Given the description of an element on the screen output the (x, y) to click on. 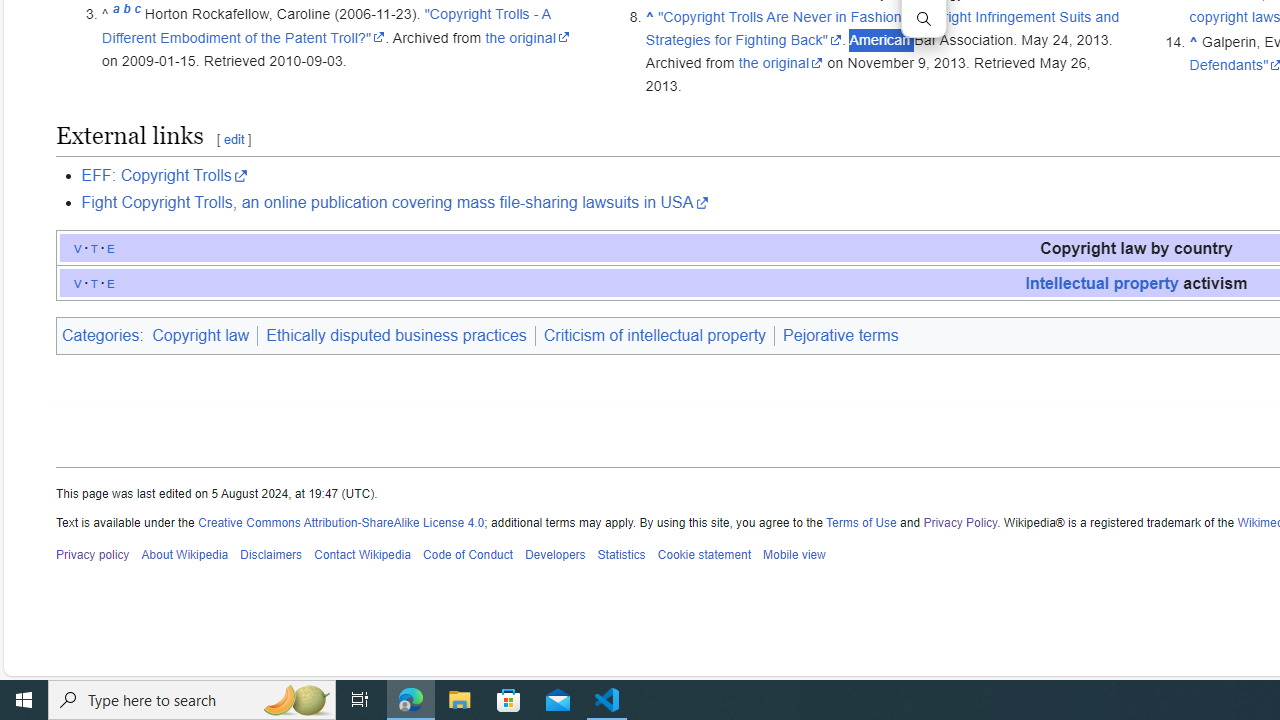
Copyright law (203, 336)
Mobile view (793, 555)
Criticism of intellectual property (654, 335)
Ethically disputed business practices (396, 336)
Ethically disputed business practices (396, 335)
Disclaimers (271, 555)
edit (233, 139)
e (111, 282)
Jump up (1193, 41)
EFF: Copyright Trolls (164, 176)
v (77, 282)
the original (781, 63)
